Given the description of an element on the screen output the (x, y) to click on. 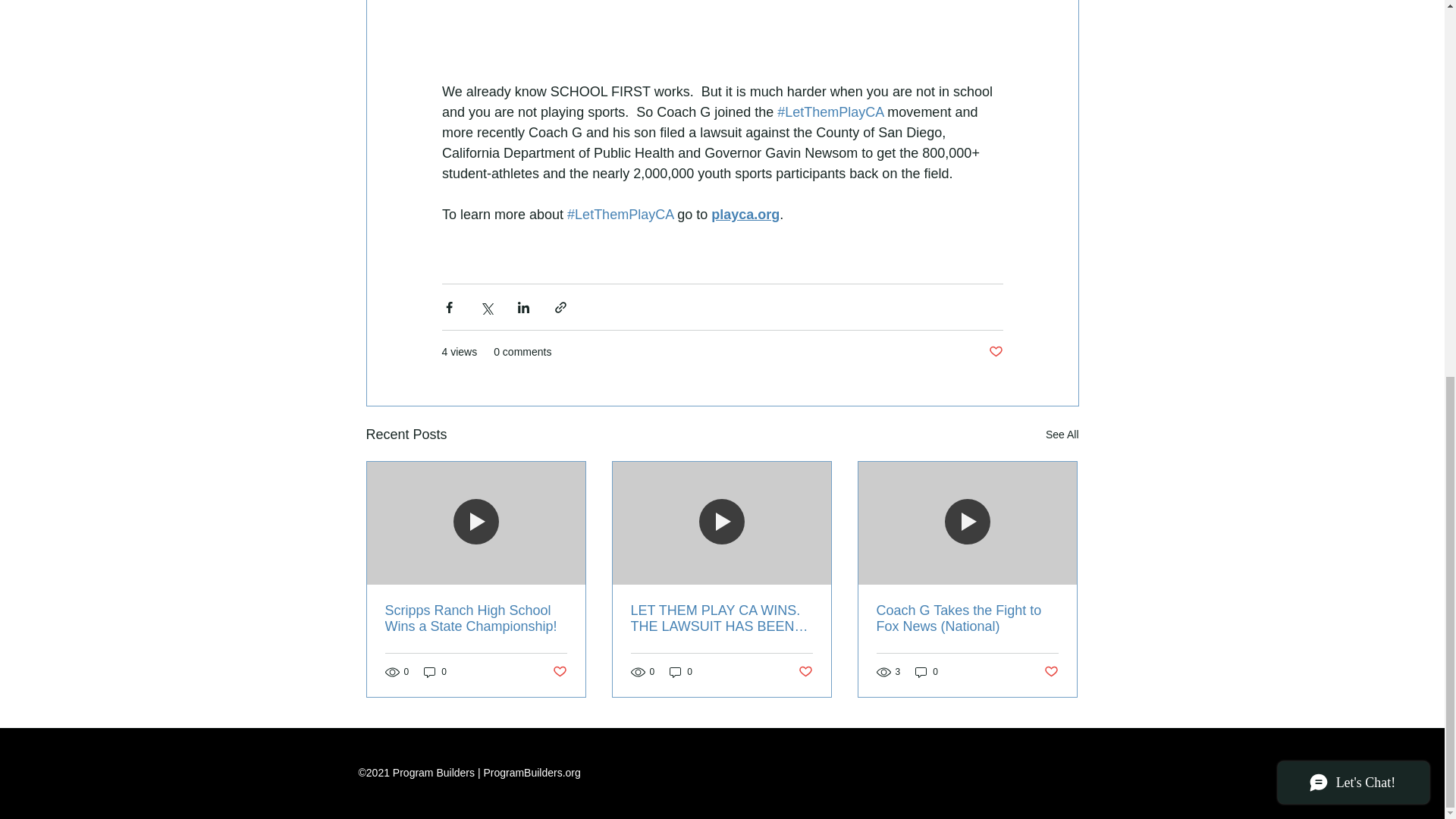
Post not marked as liked (804, 672)
0 (681, 672)
0 (435, 672)
Scripps Ranch High School Wins a State Championship! (476, 618)
0 (926, 672)
Post not marked as liked (995, 351)
Post not marked as liked (558, 672)
playca.org (744, 214)
See All (1061, 434)
Post not marked as liked (1050, 672)
